Given the description of an element on the screen output the (x, y) to click on. 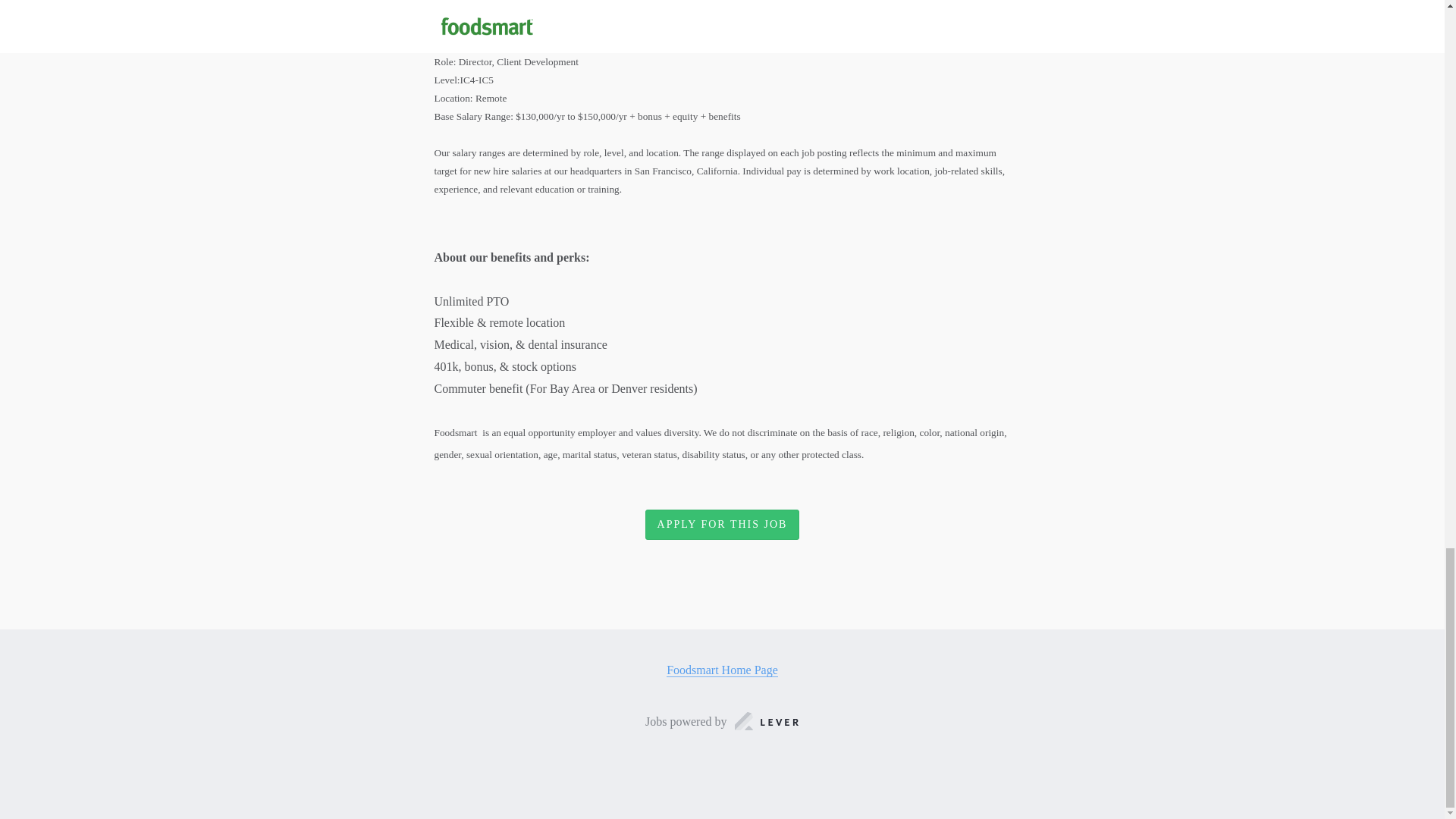
Foodsmart Home Page (721, 670)
Jobs powered by (722, 722)
APPLY FOR THIS JOB (722, 523)
